Given the description of an element on the screen output the (x, y) to click on. 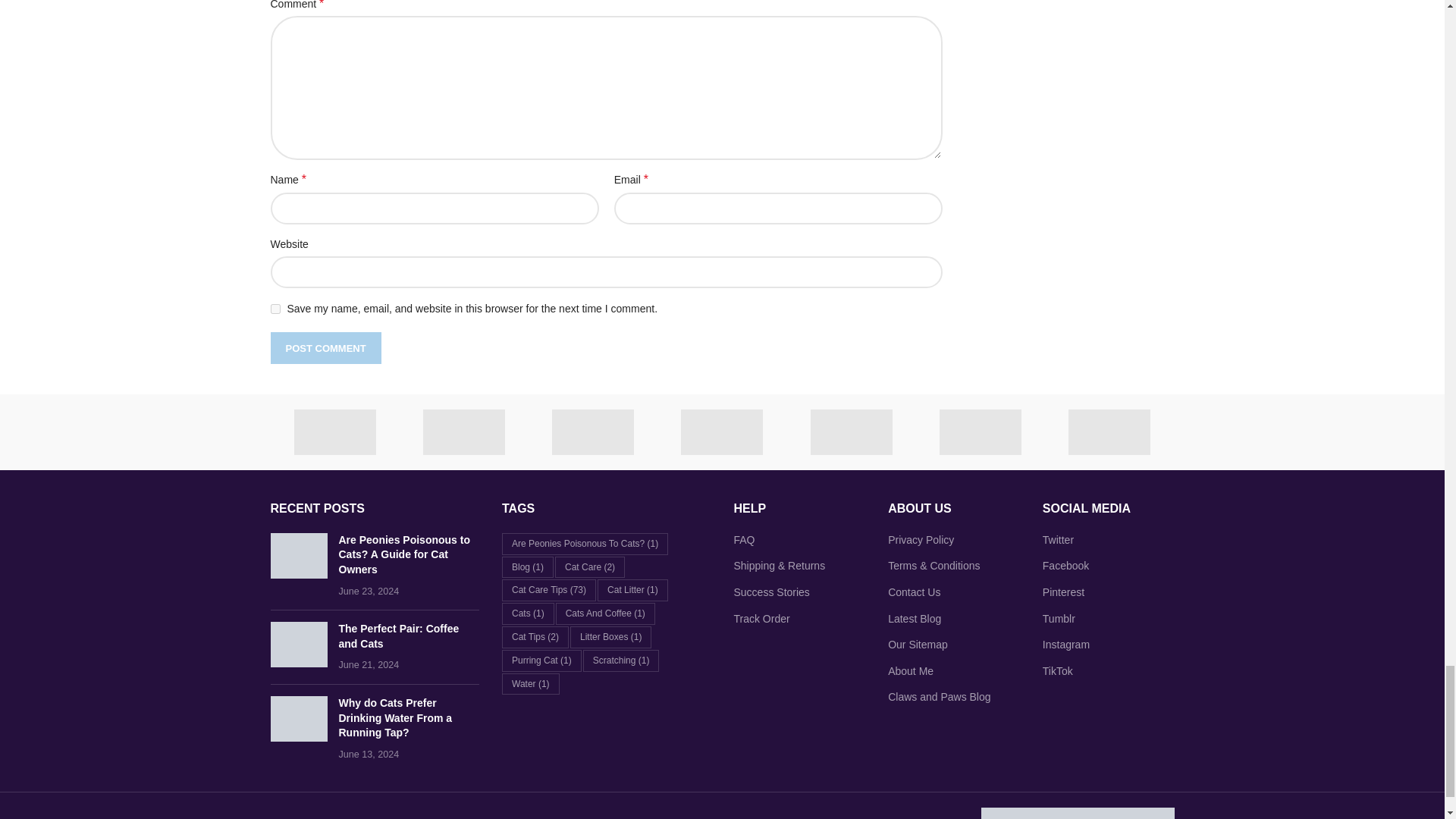
Post Comment (324, 347)
yes (274, 308)
